Given the description of an element on the screen output the (x, y) to click on. 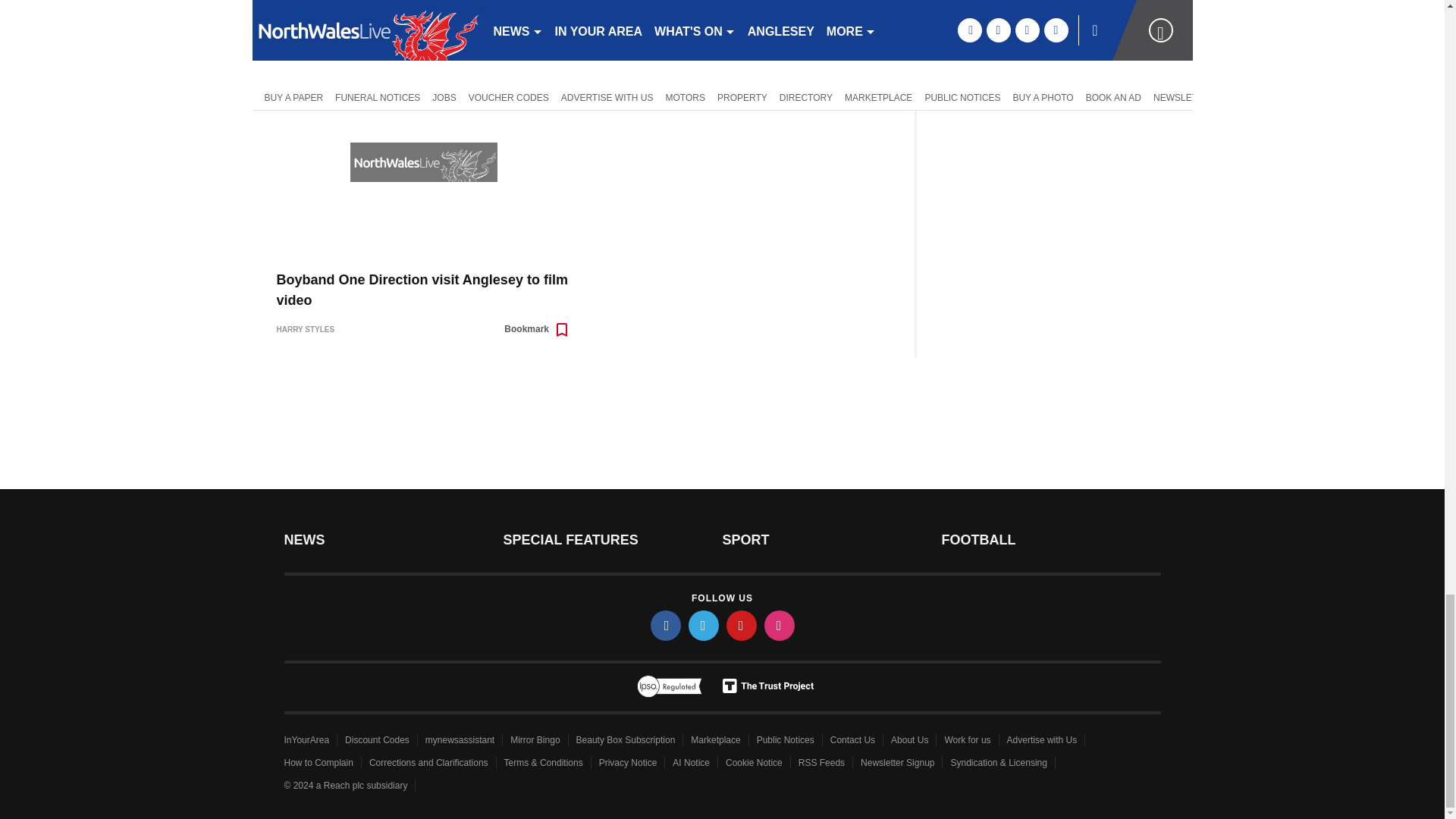
pinterest (741, 625)
instagram (779, 625)
facebook (665, 625)
twitter (703, 625)
